Given the description of an element on the screen output the (x, y) to click on. 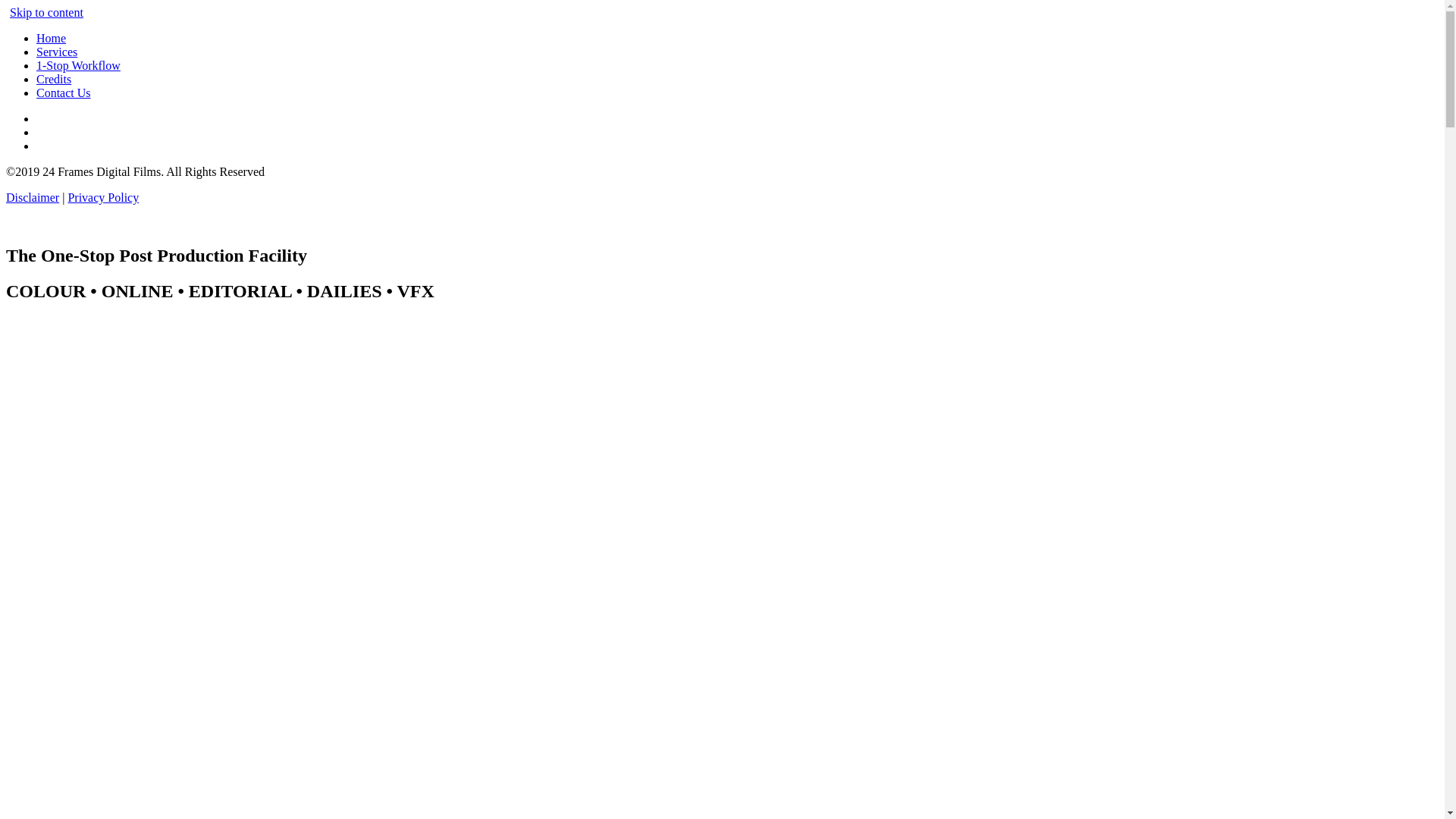
Contact Us Element type: text (63, 92)
1-Stop Workflow Element type: text (78, 65)
Credits Element type: text (53, 78)
Disclaimer Element type: text (32, 197)
Privacy Policy Element type: text (102, 197)
Skip to content Element type: text (46, 12)
Services Element type: text (56, 51)
Home Element type: text (50, 37)
